Given the description of an element on the screen output the (x, y) to click on. 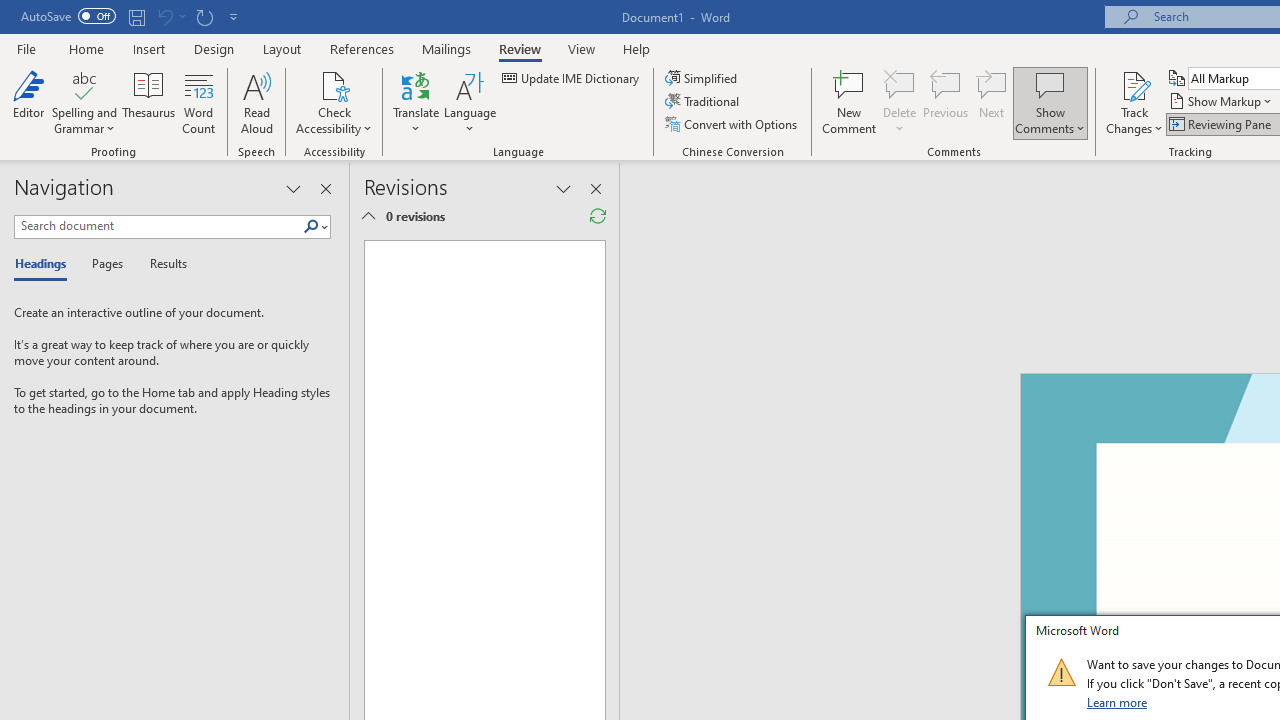
Save (136, 15)
File Tab (26, 48)
Read Aloud (256, 102)
Check Accessibility (334, 84)
Show Detailed Summary (368, 215)
Previous (946, 102)
Search document (157, 226)
Spelling and Grammar (84, 84)
Show Comments (1050, 102)
Delete (900, 102)
Editor (28, 102)
Check Accessibility (334, 102)
Repeat Doc Close (204, 15)
